Given the description of an element on the screen output the (x, y) to click on. 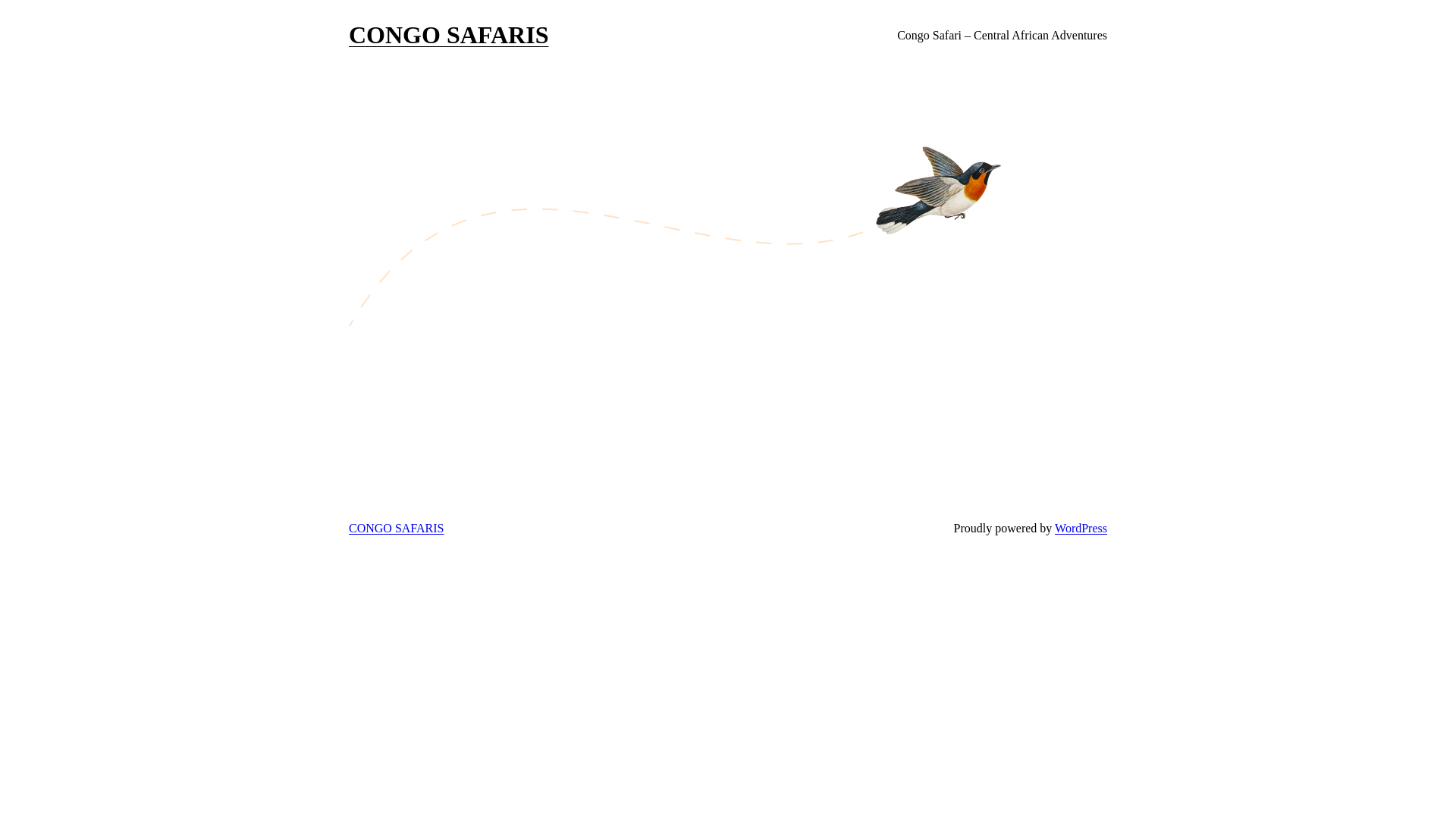
CONGO SAFARIS Element type: text (448, 34)
CONGO SAFARIS Element type: text (396, 527)
Skip to content Element type: text (5, 5)
WordPress Element type: text (1080, 527)
